Given the description of an element on the screen output the (x, y) to click on. 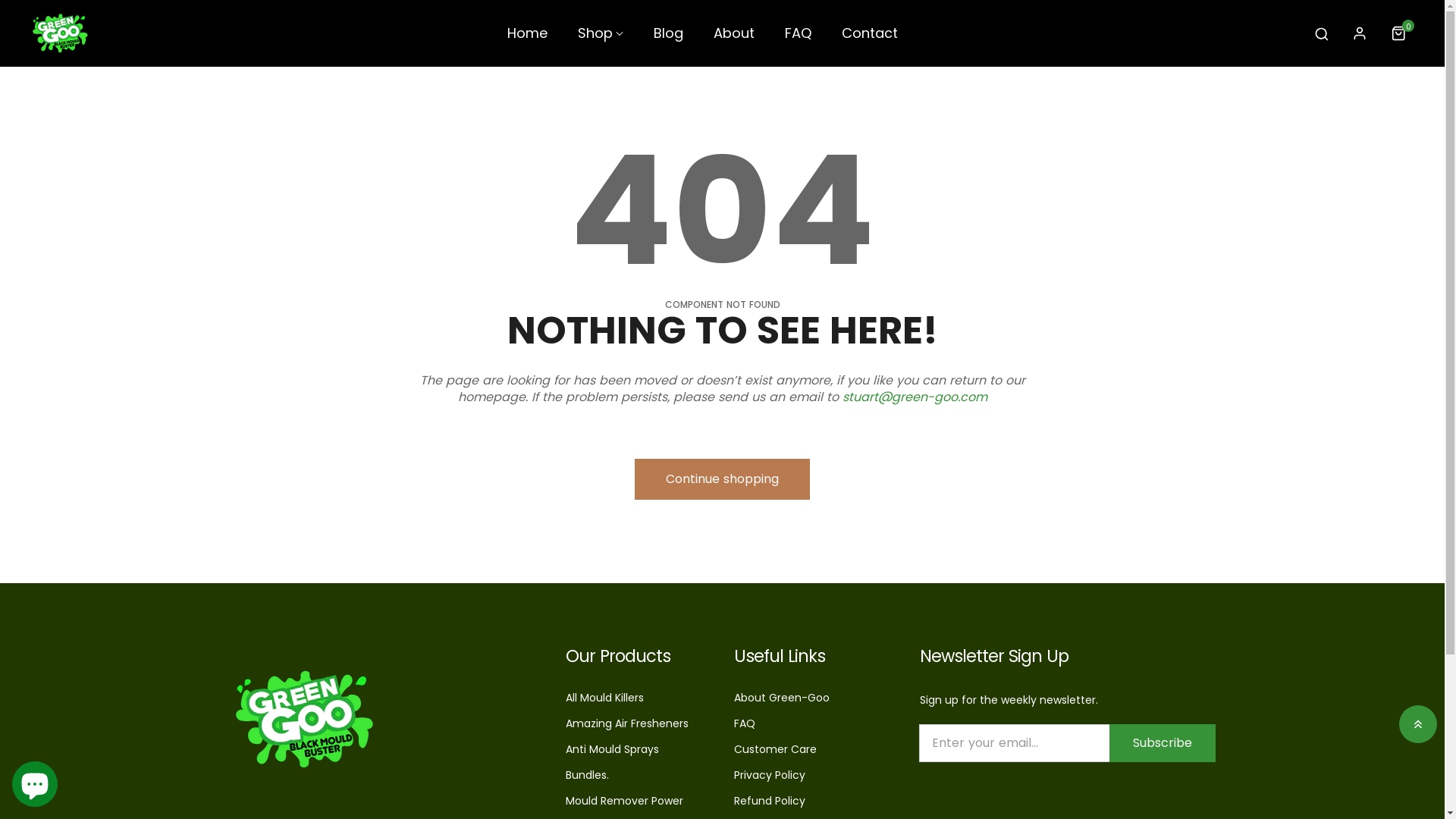
FAQ Element type: text (744, 723)
Refund Policy Element type: text (769, 800)
Continue shopping Element type: text (721, 478)
0 Element type: text (1401, 32)
Home Element type: text (527, 39)
FAQ Element type: text (797, 39)
About Element type: text (733, 39)
Anti Mould Sprays Element type: text (611, 748)
stuart@green-goo.com Element type: text (913, 396)
Contact Element type: text (869, 39)
Shopify online store chat Element type: hover (34, 780)
About Green-Goo Element type: text (781, 697)
Privacy Policy Element type: text (769, 774)
Amazing Air Fresheners Element type: text (626, 723)
Shop Element type: text (600, 39)
Bundles. Element type: text (586, 774)
Customer Care Element type: text (775, 748)
Subscribe Element type: text (1161, 742)
Blog Element type: text (668, 39)
All Mould Killers Element type: text (604, 697)
